Given the description of an element on the screen output the (x, y) to click on. 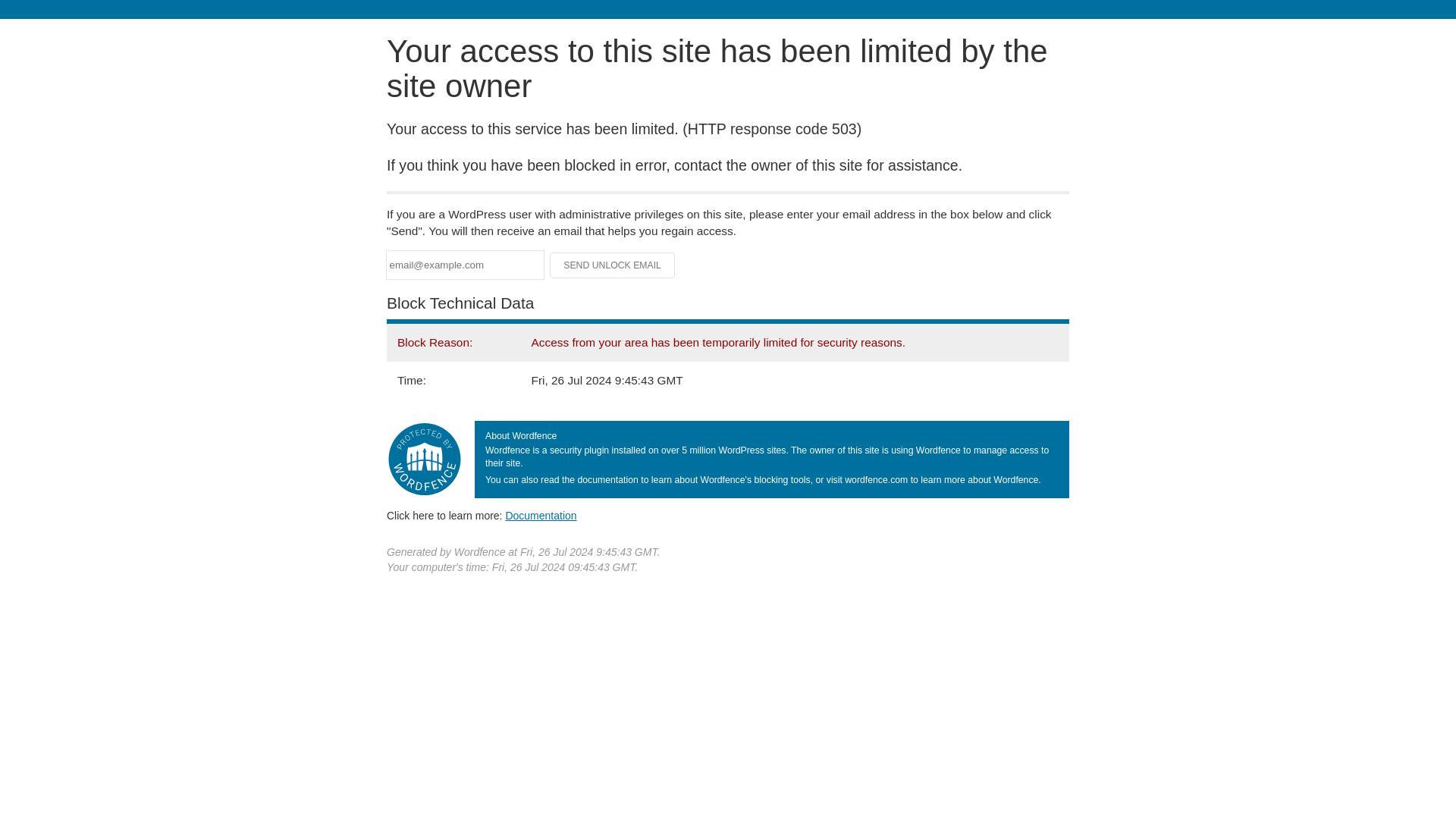
Documentation (540, 515)
Send Unlock Email (612, 265)
Send Unlock Email (612, 265)
